Given the description of an element on the screen output the (x, y) to click on. 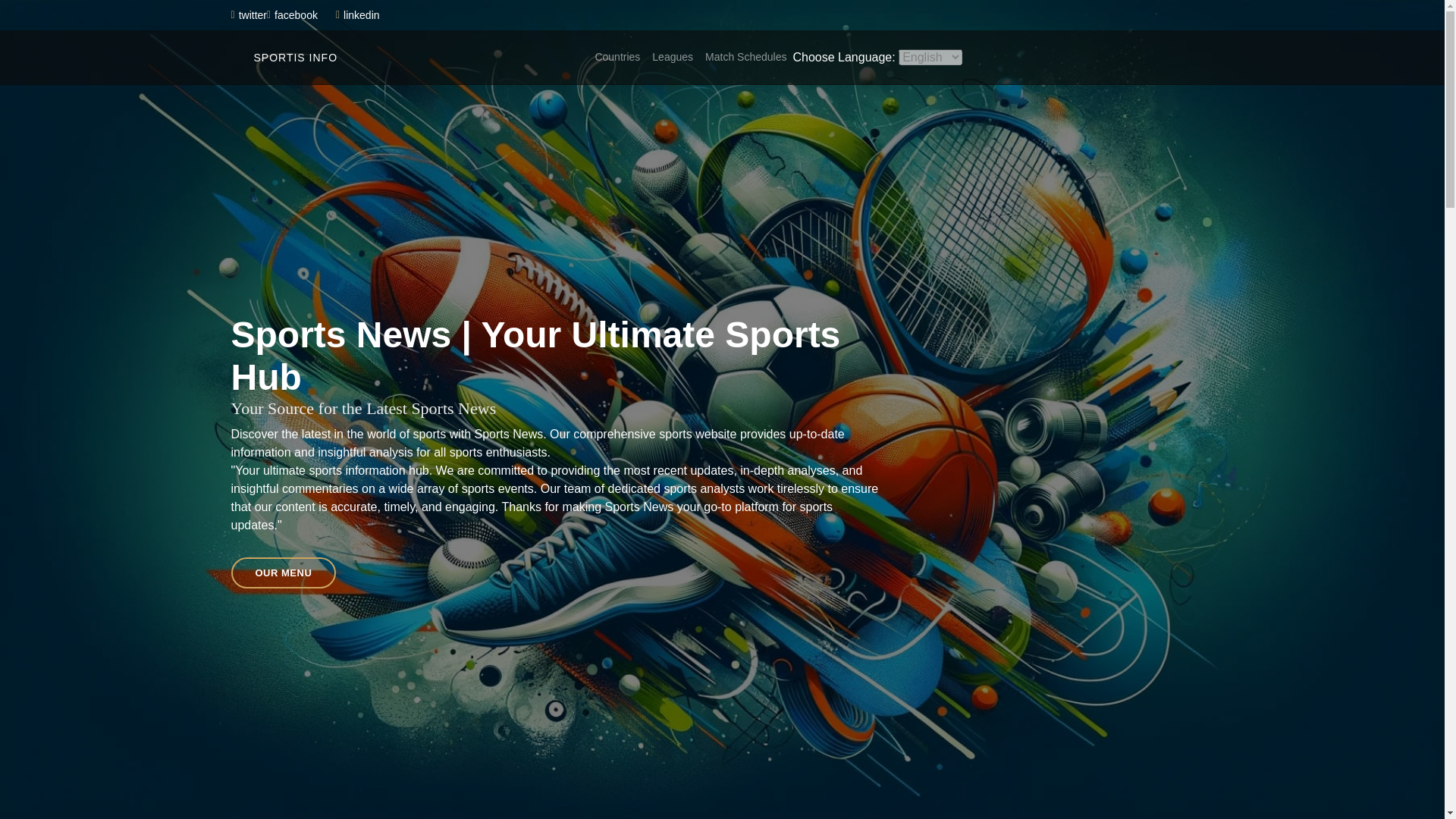
sportisinfo (358, 15)
Leagues (672, 56)
OUR MENU (283, 572)
Match Schedules (745, 56)
Countries (617, 56)
Leagues (672, 56)
SPORTIS INFO (283, 56)
facebook (293, 15)
sportisinfo (250, 15)
sportisinfo (293, 15)
Our Menu (283, 572)
sportisinfo (283, 56)
Match Schedules (745, 56)
twitter (250, 15)
linkedin (358, 15)
